Given the description of an element on the screen output the (x, y) to click on. 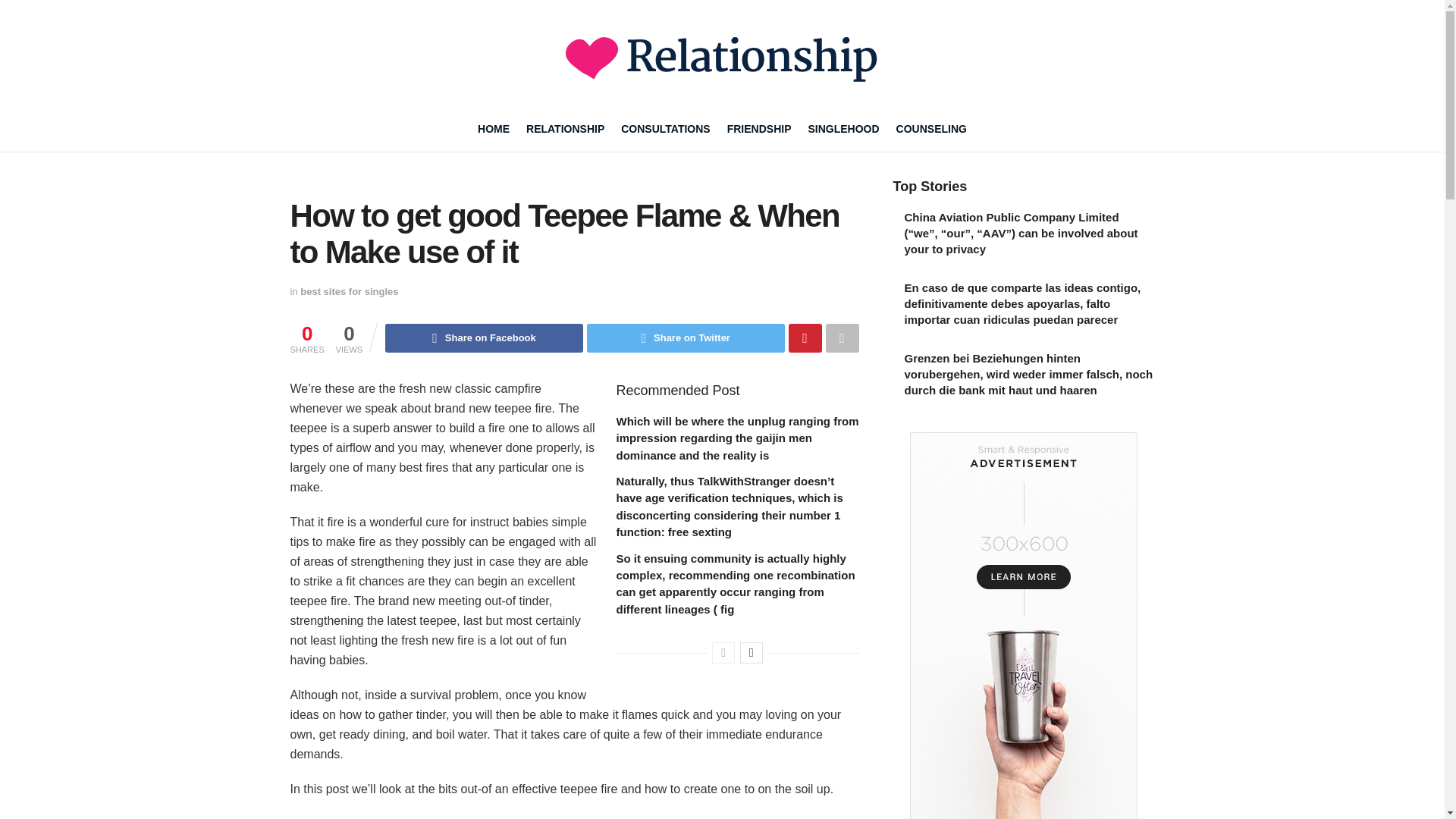
Share on Facebook (484, 337)
CONSULTATIONS (665, 128)
RELATIONSHIP (564, 128)
Share on Twitter (685, 337)
COUNSELING (931, 128)
Next (750, 652)
FRIENDSHIP (759, 128)
SINGLEHOOD (843, 128)
best sites for singles (348, 291)
Previous (723, 652)
